Given the description of an element on the screen output the (x, y) to click on. 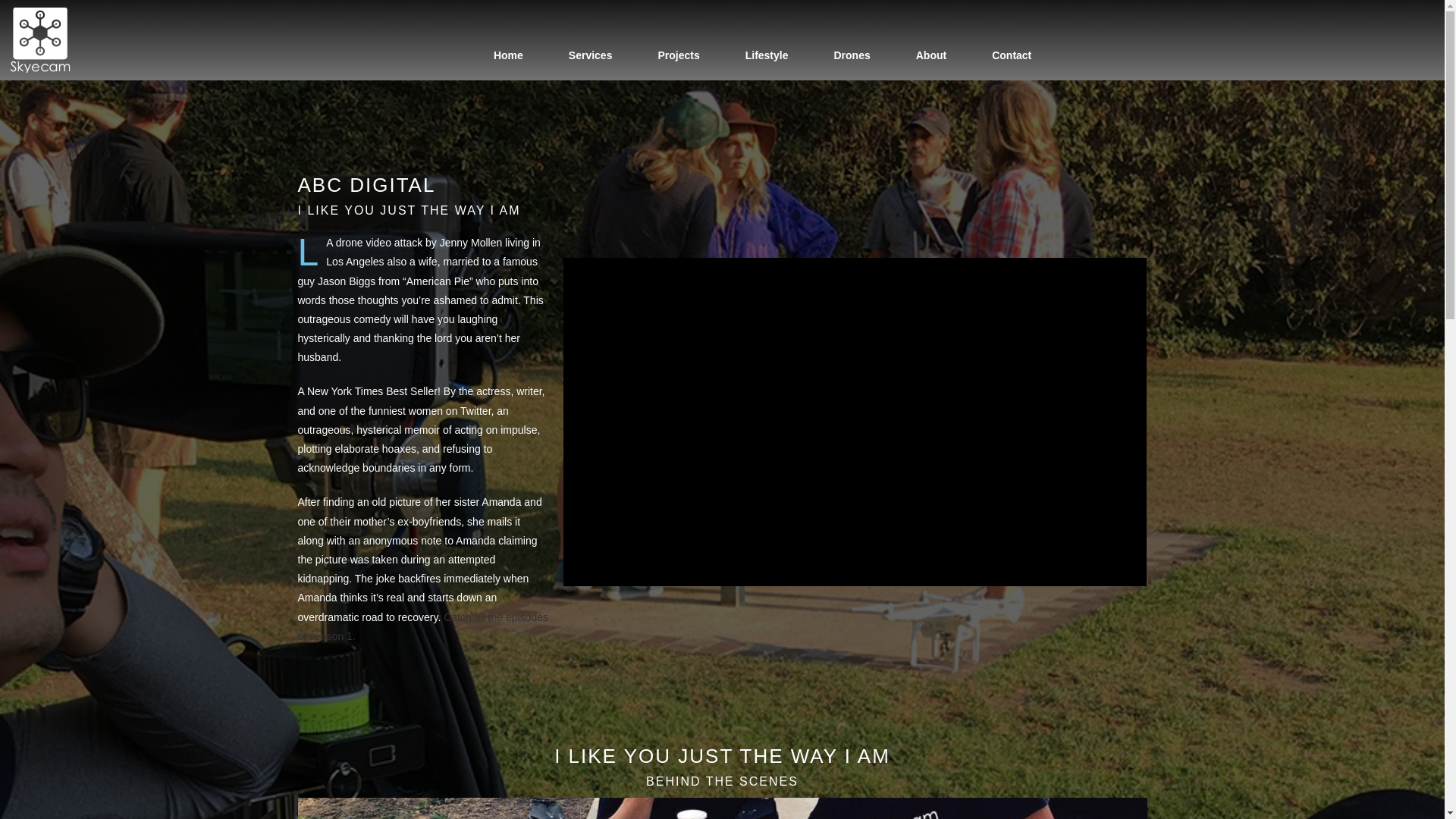
Lifestyle (766, 54)
Catch all the episodes of season 1. (422, 626)
Home (508, 54)
About (931, 54)
Services (590, 54)
Projects (678, 54)
Drones (851, 54)
Contact (1011, 54)
